Given the description of an element on the screen output the (x, y) to click on. 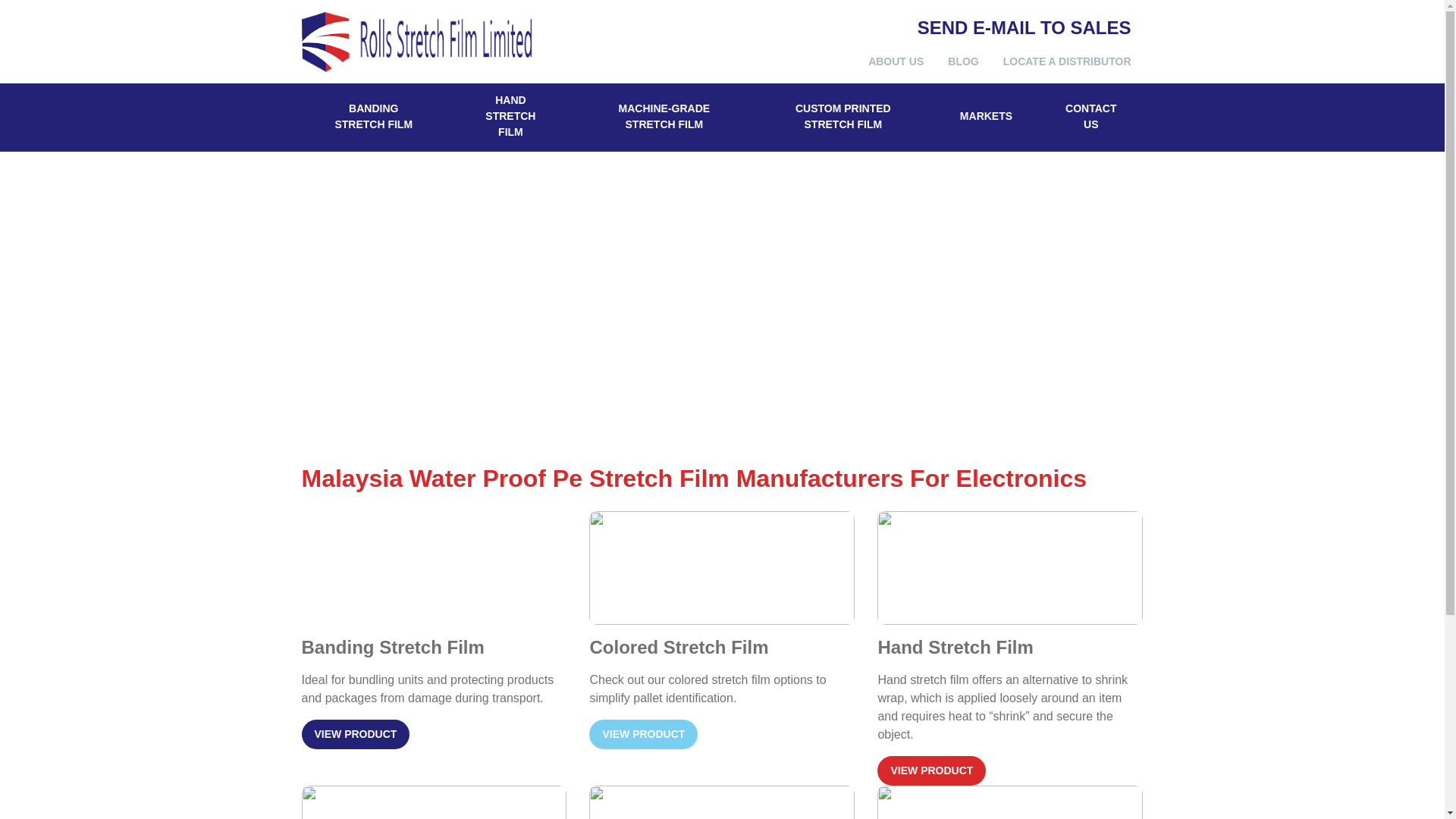
MACHINE-GRADE STRETCH FILM (663, 116)
SEND E-MAIL TO SALES (1024, 26)
MARKETS (986, 117)
VIEW PRODUCT (355, 734)
CONTACT US (1090, 116)
HAND STRETCH FILM (510, 117)
BLOG (963, 60)
Custom Printed Stretch Film (842, 116)
Blog (963, 60)
LOCATE A DISTRIBUTOR (1066, 60)
